Given the description of an element on the screen output the (x, y) to click on. 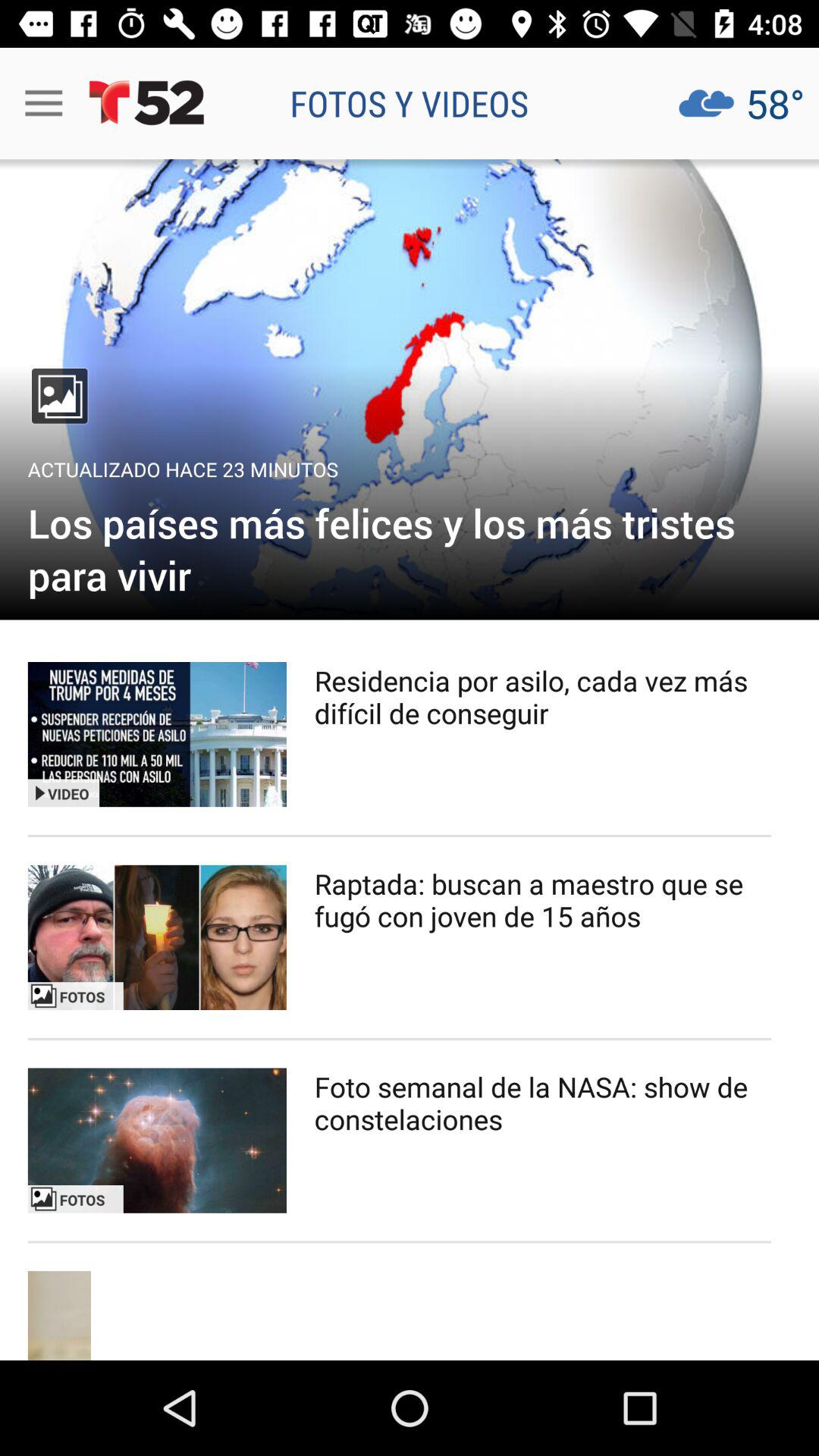
search (156, 937)
